Given the description of an element on the screen output the (x, y) to click on. 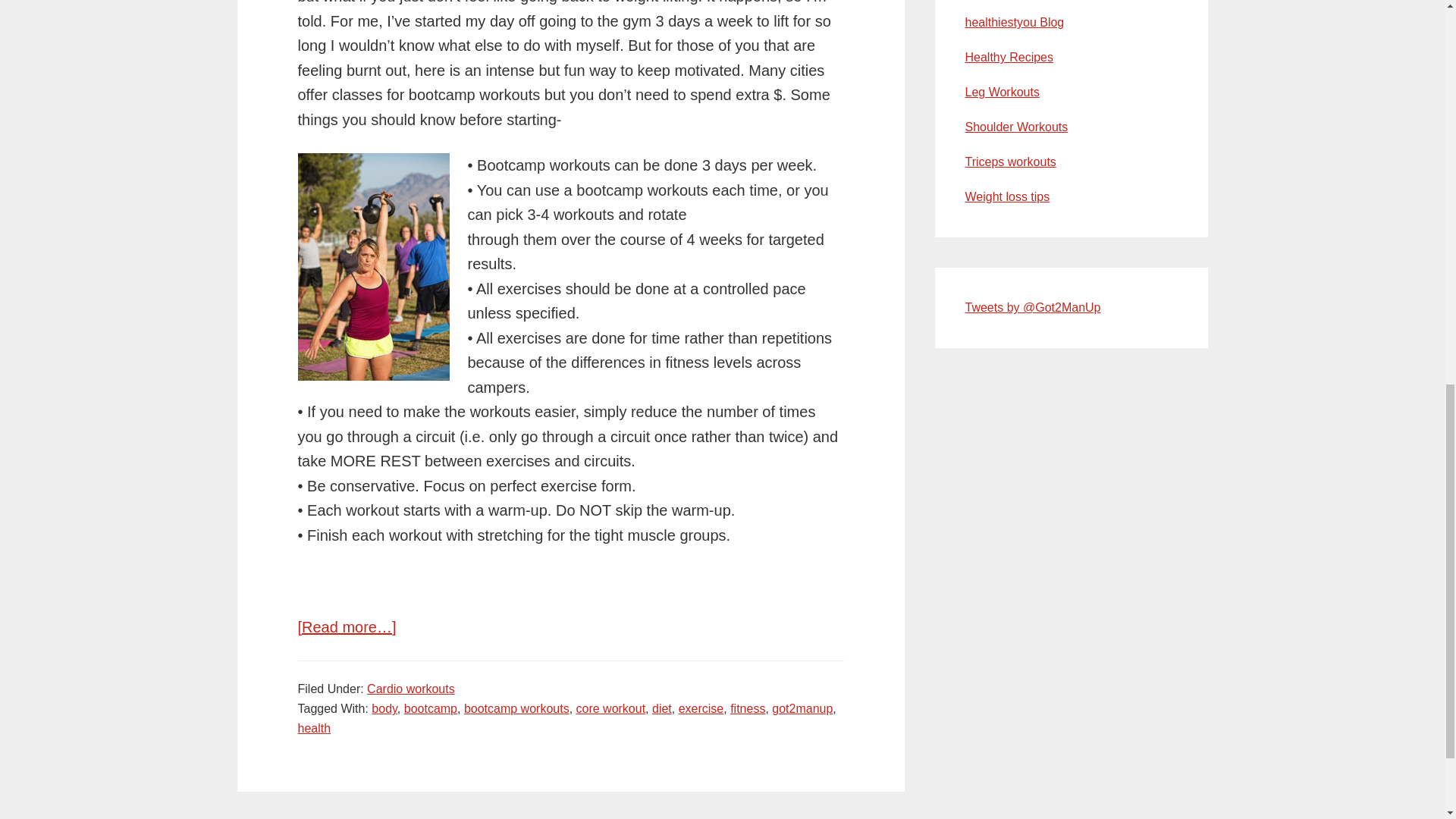
Cardio workouts (410, 688)
bootcamp workouts (516, 707)
got2manup (801, 707)
exercise (700, 707)
diet (661, 707)
health (313, 727)
core workout (611, 707)
fitness (747, 707)
body (384, 707)
bootcamp (430, 707)
